Given the description of an element on the screen output the (x, y) to click on. 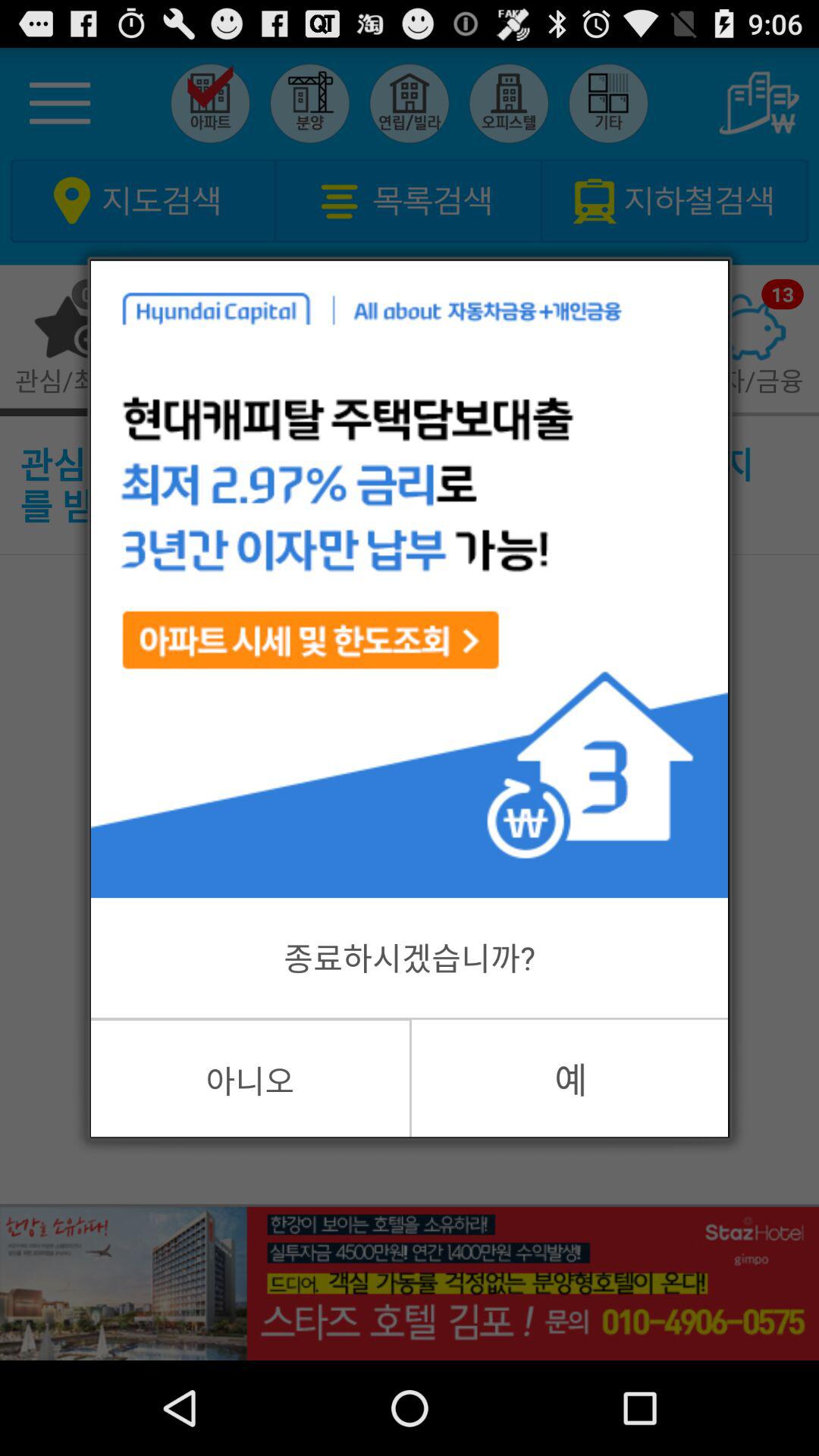
choose the item at the bottom right corner (569, 1077)
